Given the description of an element on the screen output the (x, y) to click on. 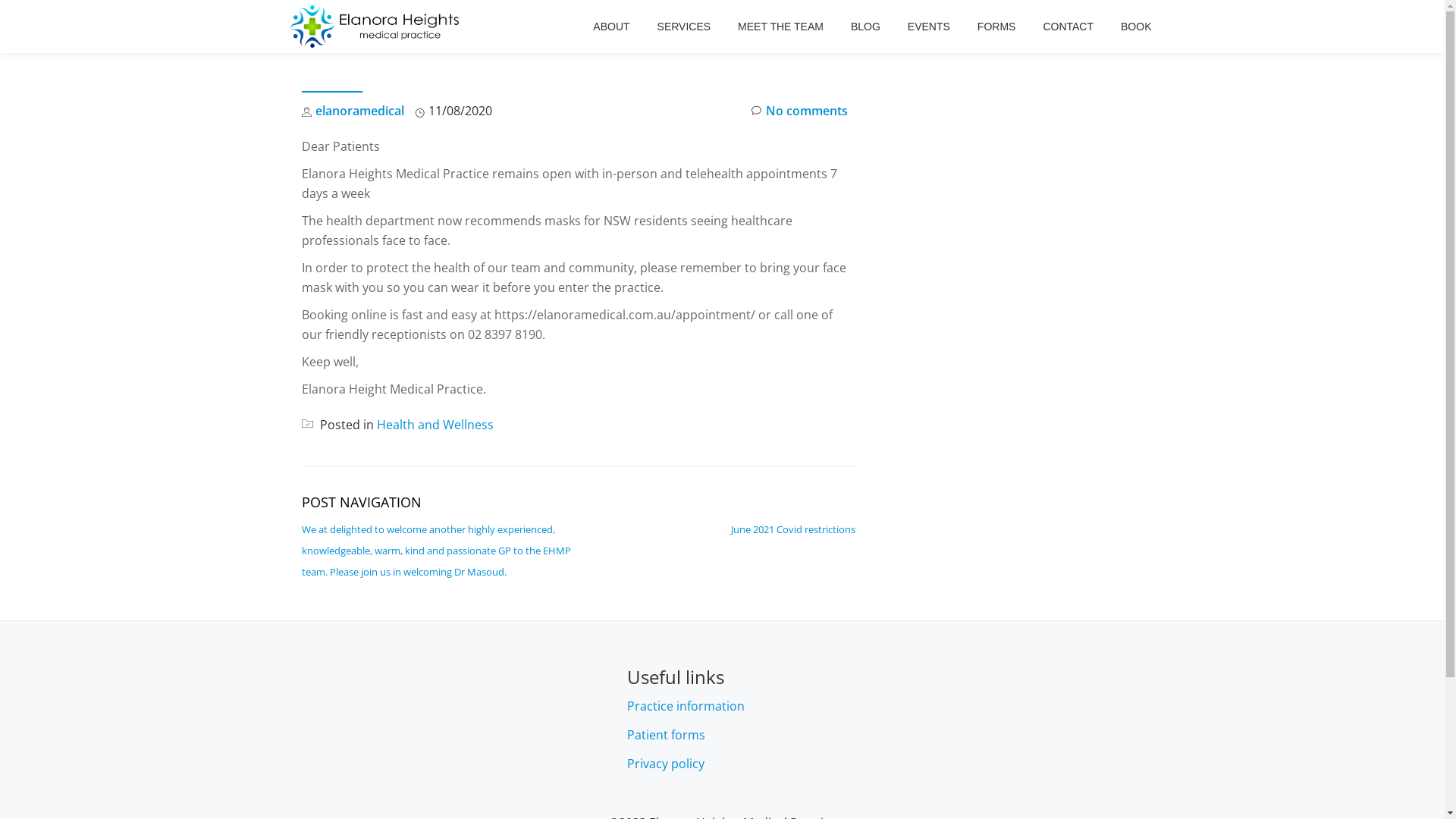
Practice information Element type: text (685, 705)
FORMS Element type: text (996, 26)
Patient forms Element type: text (666, 734)
Elanora Heights Medical Practice Element type: hover (376, 26)
SERVICES Element type: text (684, 26)
CONTACT Element type: text (1067, 26)
Privacy policy Element type: text (665, 763)
ABOUT Element type: text (611, 26)
No comments Element type: text (798, 110)
Health and Wellness Element type: text (434, 424)
June 2021 Covid restrictions Element type: text (793, 529)
elanoramedical Element type: text (359, 110)
BOOK Element type: text (1135, 26)
BLOG Element type: text (865, 26)
Skip to content Element type: text (0, 30)
EVENTS Element type: text (928, 26)
MEET THE TEAM Element type: text (780, 26)
